Given the description of an element on the screen output the (x, y) to click on. 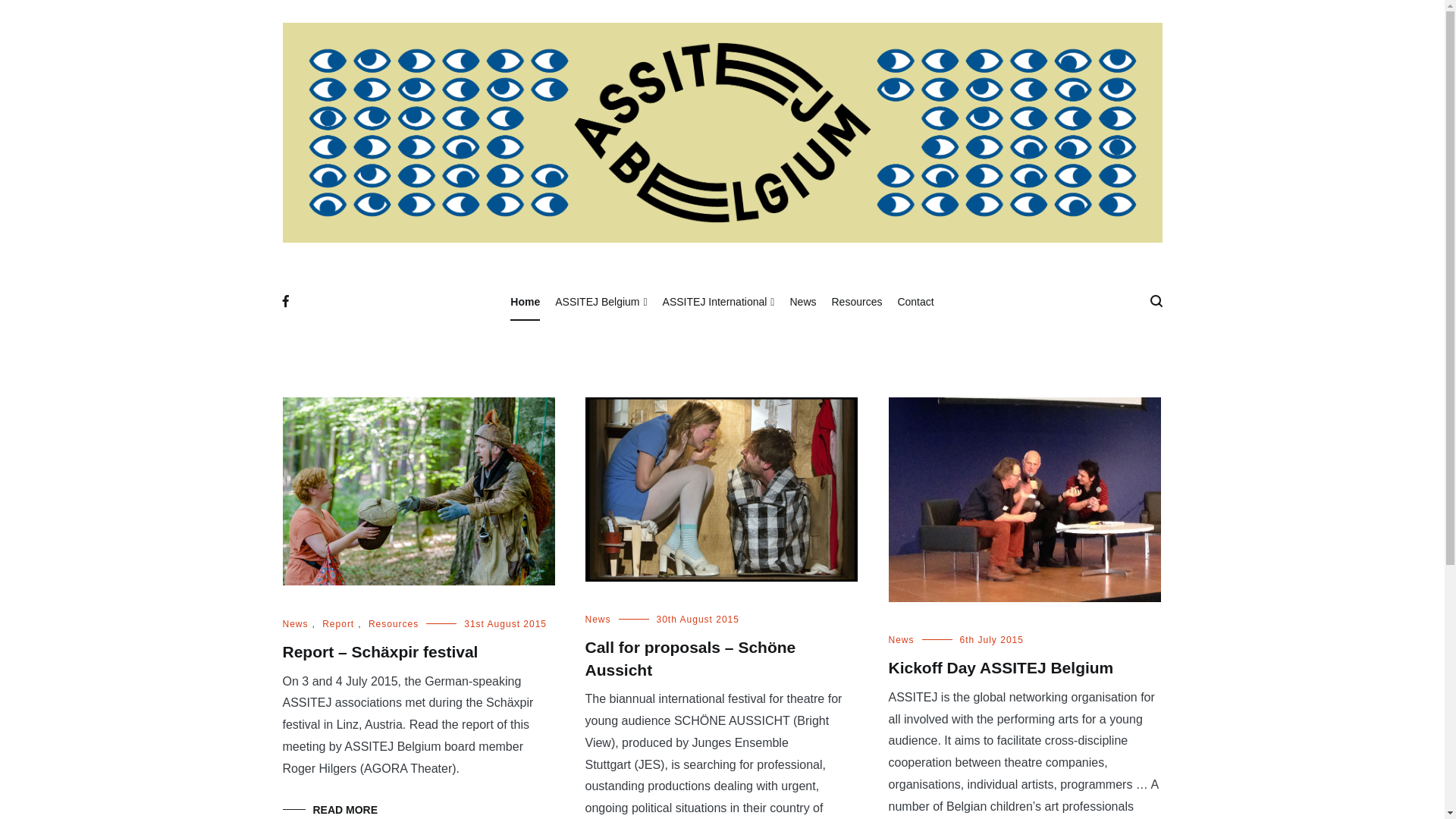
Kickoff Day ASSITEJ Belgium Element type: text (1000, 667)
Report Element type: text (338, 623)
Search Element type: text (43, 16)
6th July 2015 Element type: text (991, 639)
Resources Element type: text (856, 301)
News Element type: text (294, 623)
Contact Element type: text (915, 301)
READ MORE Element type: text (329, 809)
Home Element type: text (524, 301)
Resources Element type: text (393, 623)
News Element type: text (802, 301)
ASSITEJ International Element type: text (718, 301)
30th August 2015 Element type: text (697, 619)
ASSITEJ Belgium Element type: text (600, 301)
31st August 2015 Element type: text (505, 623)
News Element type: text (598, 619)
News Element type: text (901, 639)
